Given the description of an element on the screen output the (x, y) to click on. 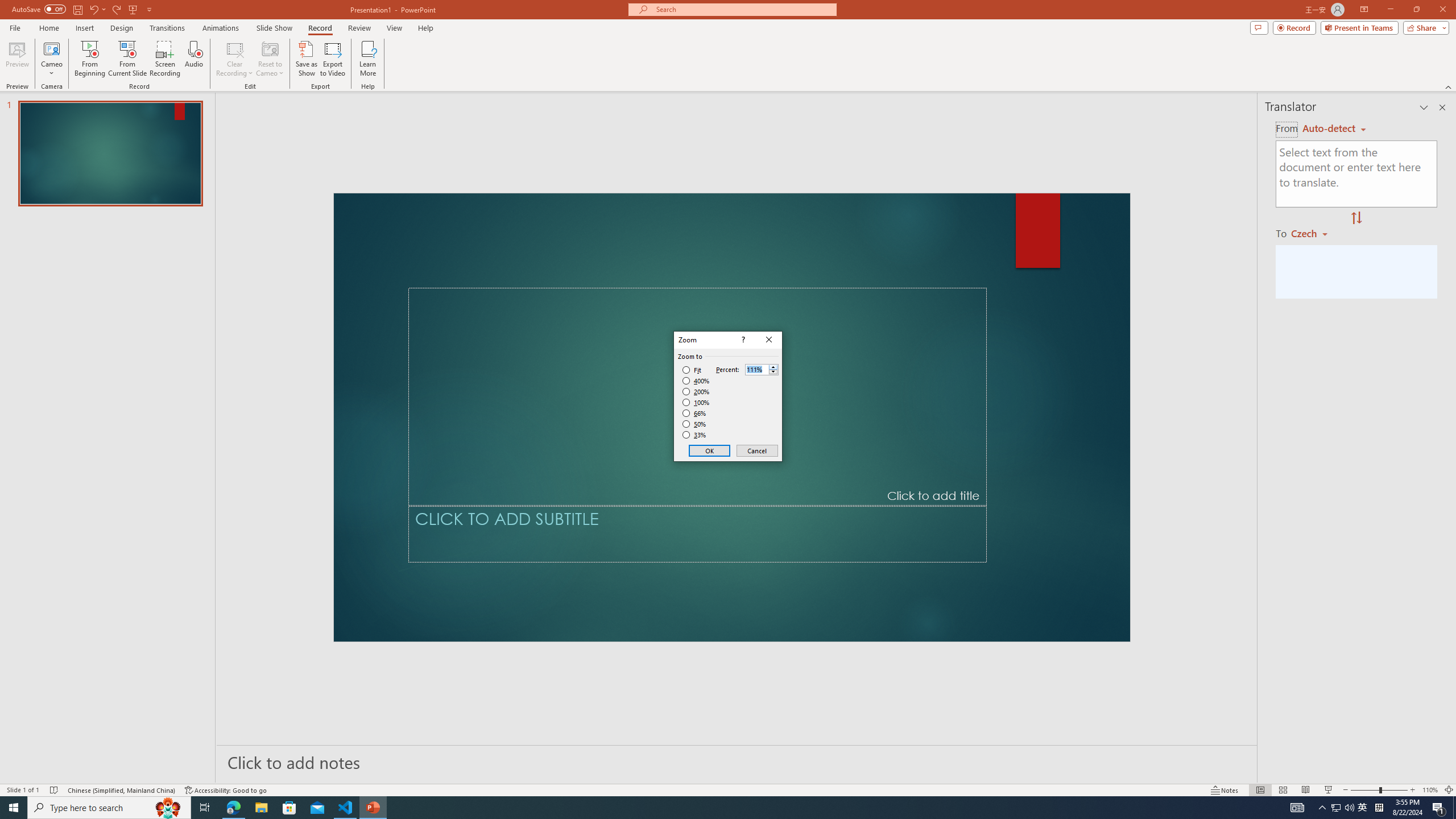
Fit (691, 370)
